Given the description of an element on the screen output the (x, y) to click on. 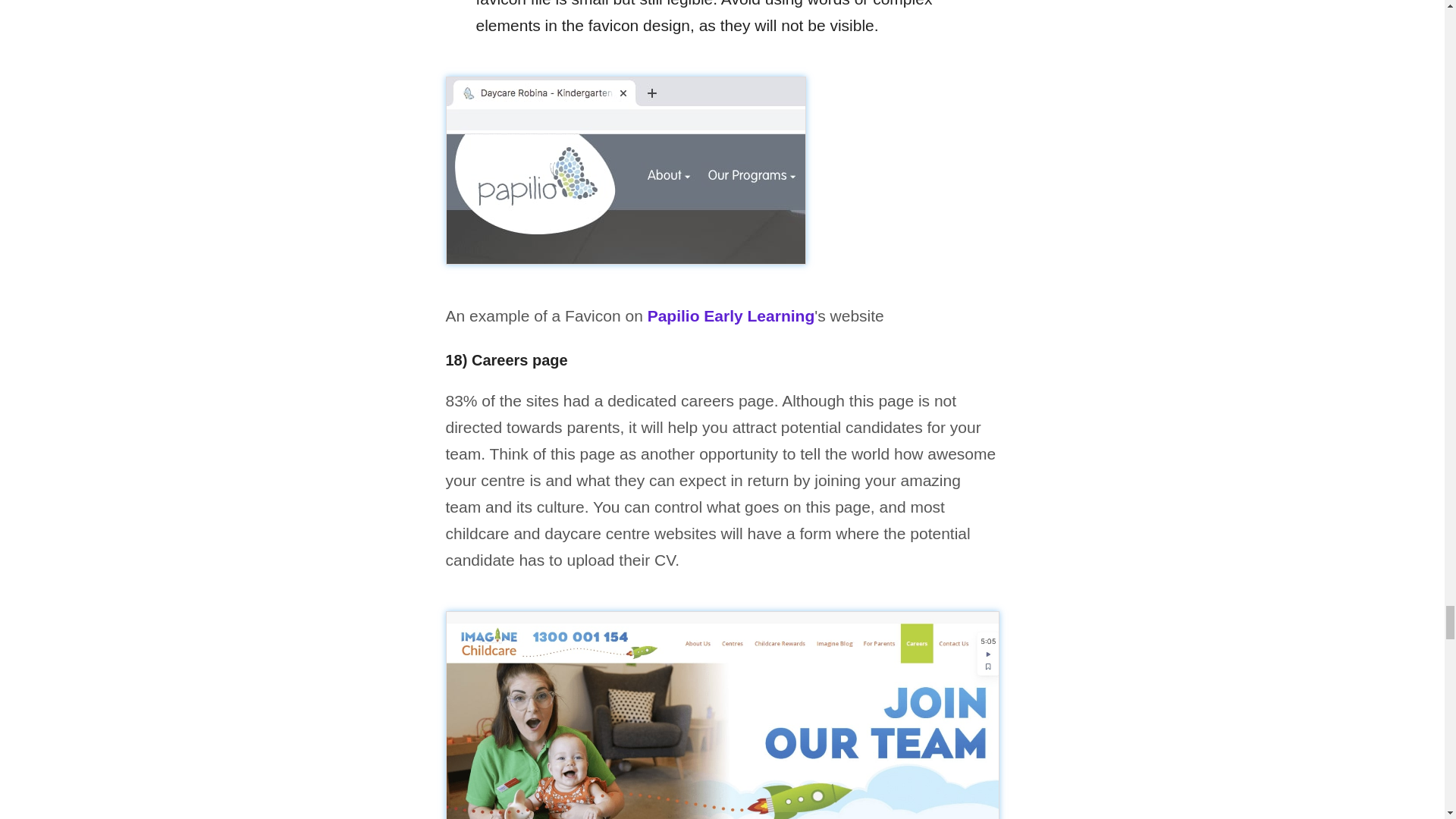
Papilio Early Learning (731, 315)
